Given the description of an element on the screen output the (x, y) to click on. 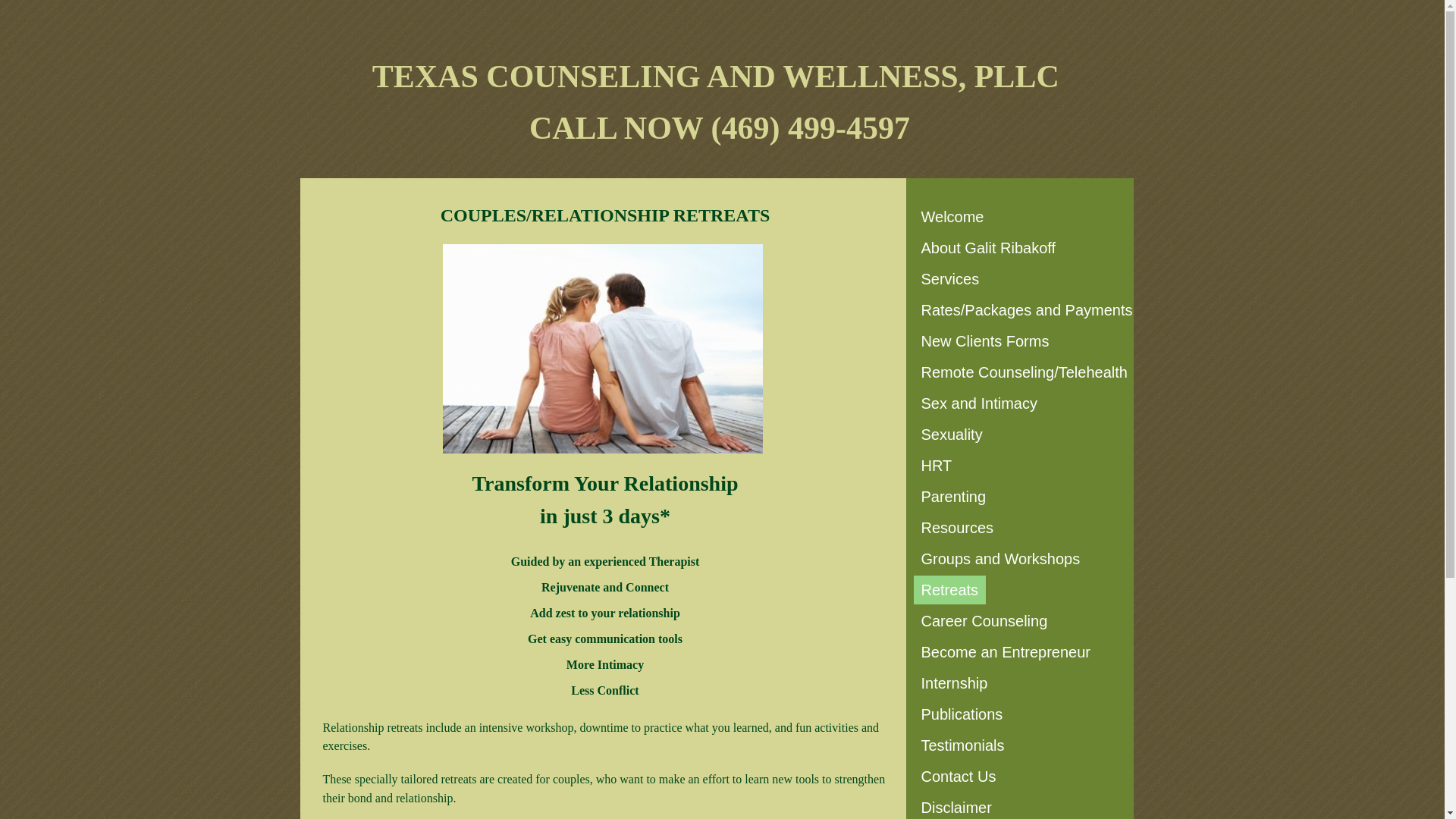
Sex and Intimacy (977, 403)
Welcome (951, 216)
New Clients Forms (984, 340)
Contact Us (957, 776)
Internship (953, 683)
HRT (935, 465)
Services (949, 278)
Testimonials (961, 745)
Sexuality (951, 434)
Disclaimer (955, 806)
Become an Entrepreneur (1004, 652)
About Galit Ribakoff (987, 247)
Publications (961, 714)
Retreats (948, 589)
Groups and Workshops (999, 558)
